Given the description of an element on the screen output the (x, y) to click on. 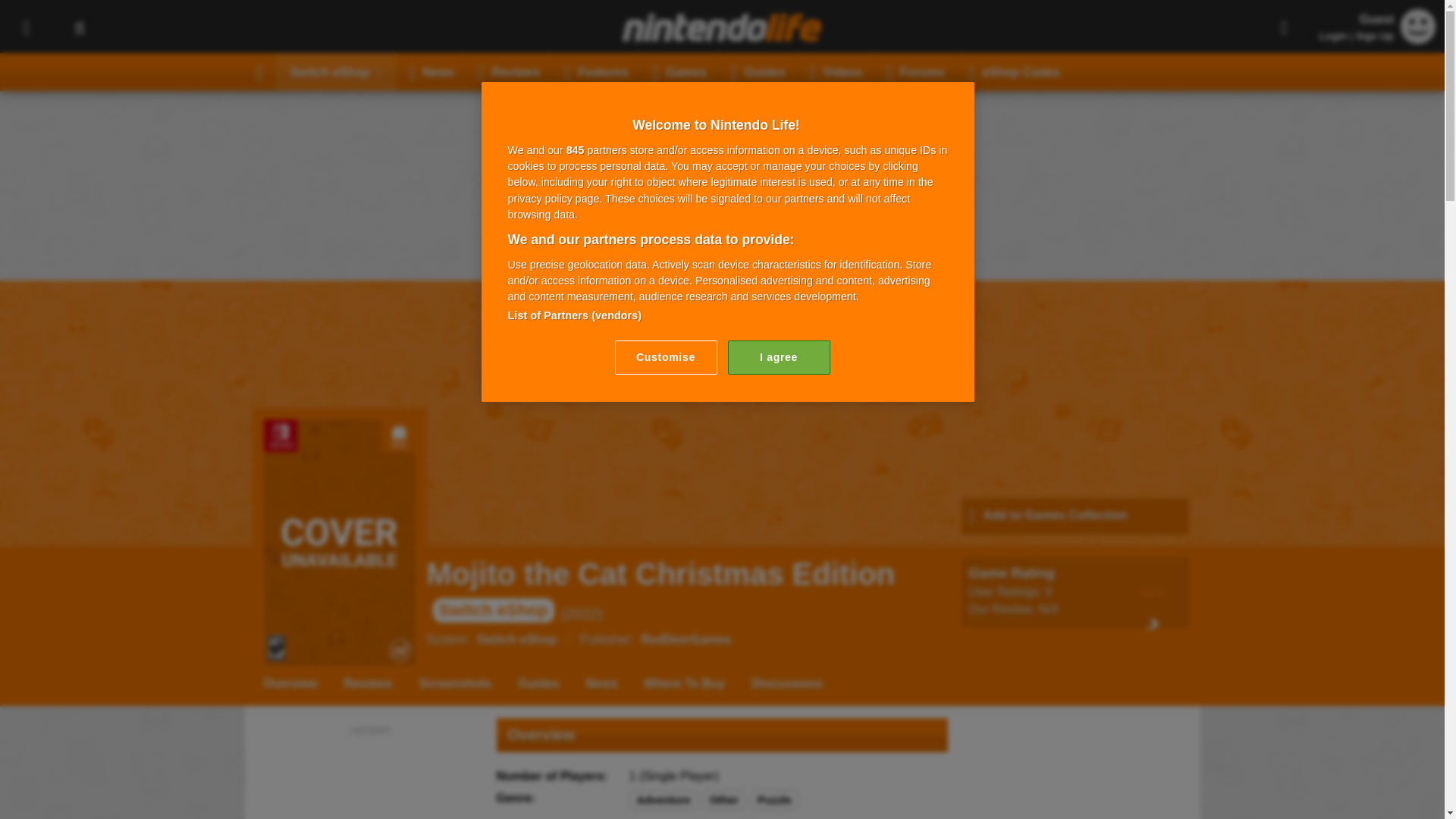
Nintendo Life (721, 27)
Guest (1417, 26)
Features (596, 71)
Guides (758, 71)
Videos (836, 71)
Share This Page (1283, 26)
Search (79, 26)
Guest (1417, 39)
eShop Codes (1013, 71)
Reviews (509, 71)
Nintendo Life (721, 27)
Games (679, 71)
Forums (915, 71)
Sign Up (1374, 35)
Switch eShop (336, 71)
